Given the description of an element on the screen output the (x, y) to click on. 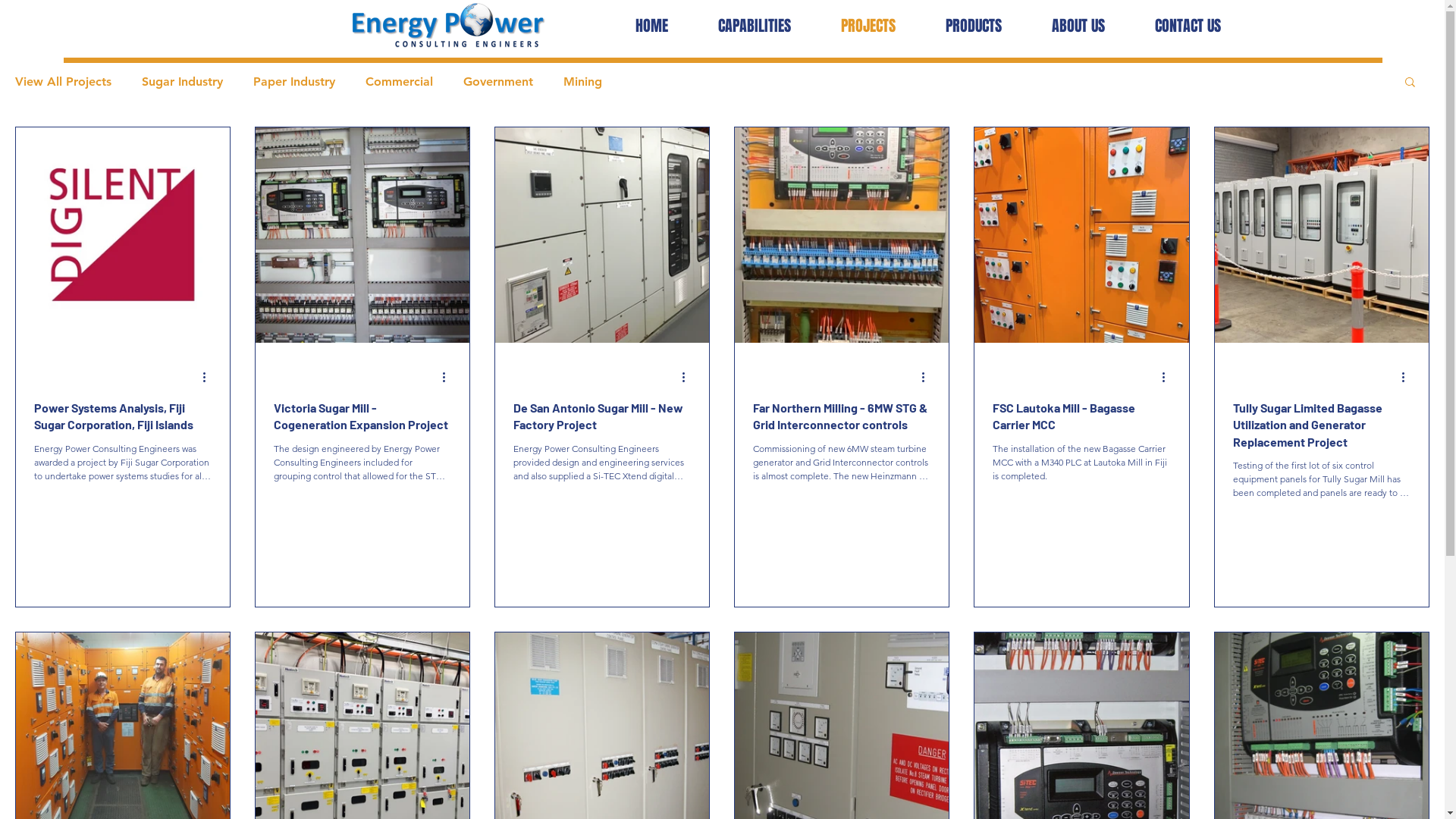
PRODUCTS Element type: text (973, 25)
epce-png - transparent.png Element type: hover (447, 25)
ABOUT US Element type: text (1077, 25)
FSC Lautoka Mill - Bagasse Carrier MCC Element type: text (1081, 416)
Mining Element type: text (582, 81)
View All Projects Element type: text (63, 81)
Sugar Industry Element type: text (181, 81)
Commercial Element type: text (399, 81)
Government Element type: text (498, 81)
Paper Industry Element type: text (294, 81)
PROJECTS Element type: text (867, 25)
Victoria Sugar Mill - Cogeneration Expansion Project Element type: text (362, 416)
HOME Element type: text (650, 25)
Power Systems Analysis, Fiji Sugar Corporation, Fiji Islands Element type: text (122, 416)
CONTACT US Element type: text (1187, 25)
CAPABILITIES Element type: text (754, 25)
De San Antonio Sugar Mill - New Factory Project Element type: text (601, 416)
